Given the description of an element on the screen output the (x, y) to click on. 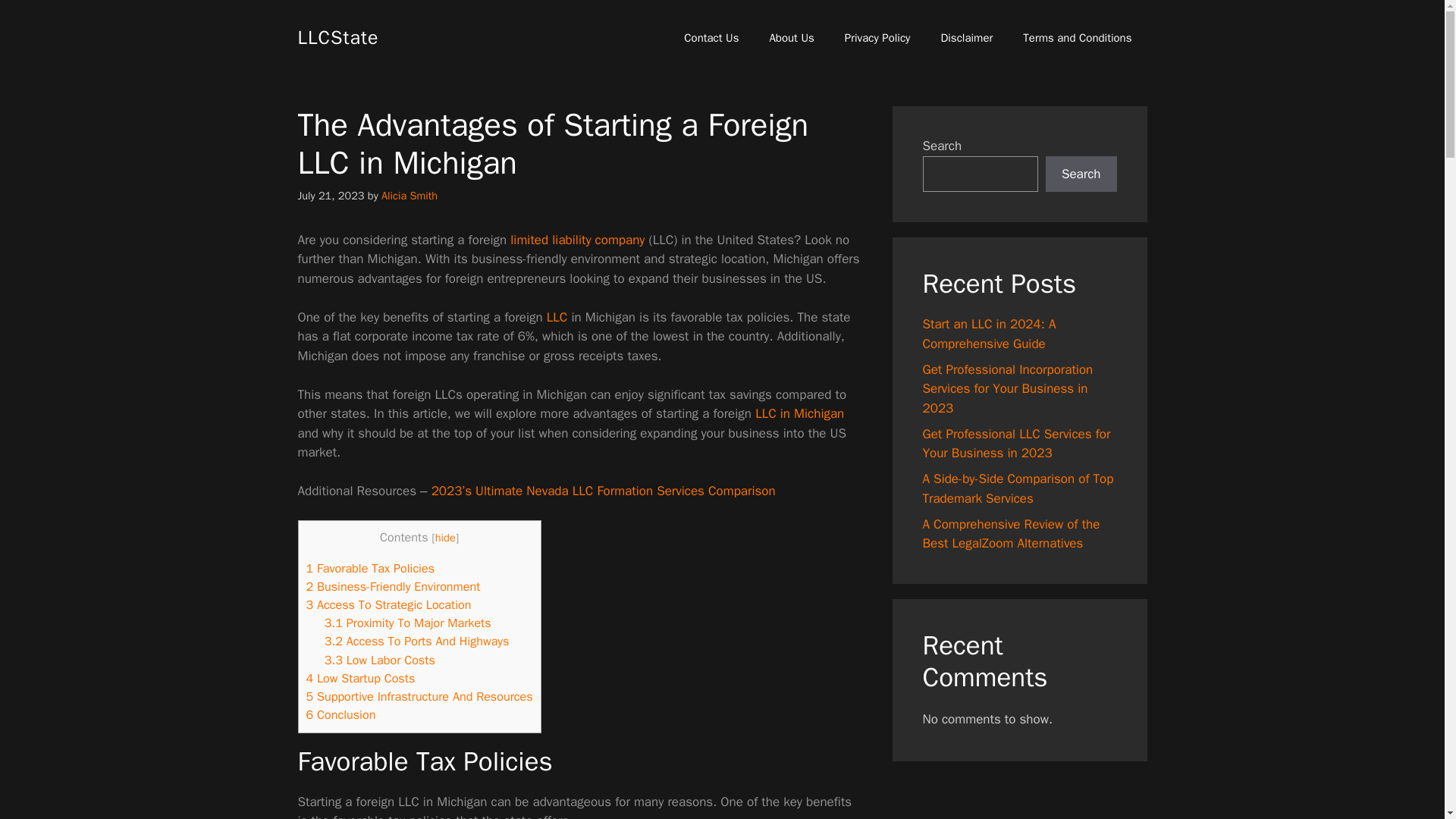
3.2 Access To Ports And Highways (416, 641)
Terms and Conditions (1077, 37)
LLC (557, 317)
View all posts by Alicia Smith (409, 195)
LLCState (337, 37)
How to Launch an Michigan LLC in 2024 (799, 413)
3.3 Low Labor Costs (379, 659)
Search (1080, 174)
About Us (791, 37)
Alicia Smith (409, 195)
6 Conclusion (340, 714)
3.1 Proximity To Major Markets (408, 622)
hide (445, 537)
Contact Us (711, 37)
Start an LLC in 2024: A Comprehensive Guide (578, 239)
